Given the description of an element on the screen output the (x, y) to click on. 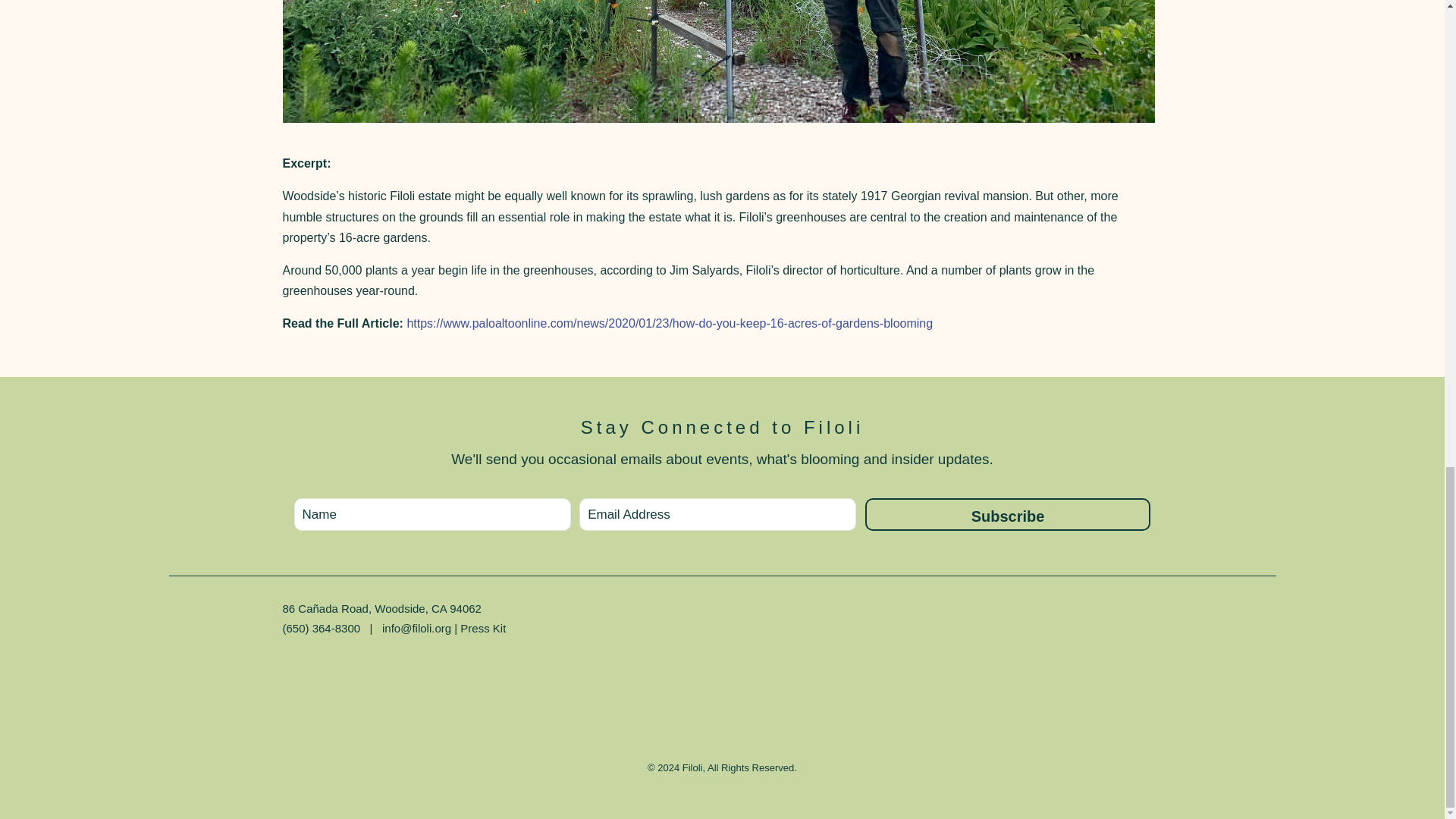
Filoli Logo Color FullLockup (722, 671)
National Trust For Historic Preservation Logo (1024, 703)
98574654 3518201891528975 8133118185315500032 O (718, 61)
